Given the description of an element on the screen output the (x, y) to click on. 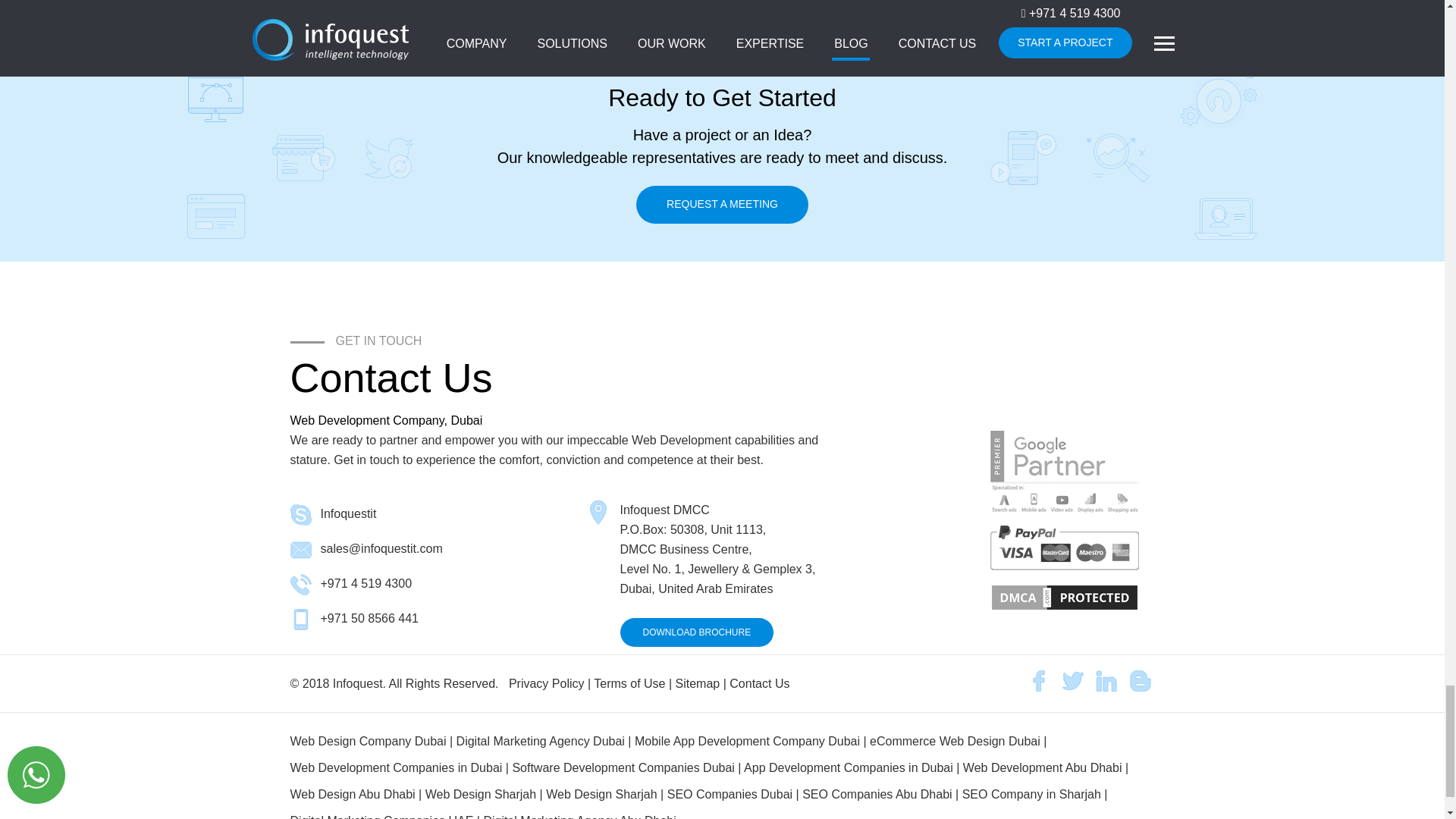
DMCA.com Protection Status (1062, 598)
